Given the description of an element on the screen output the (x, y) to click on. 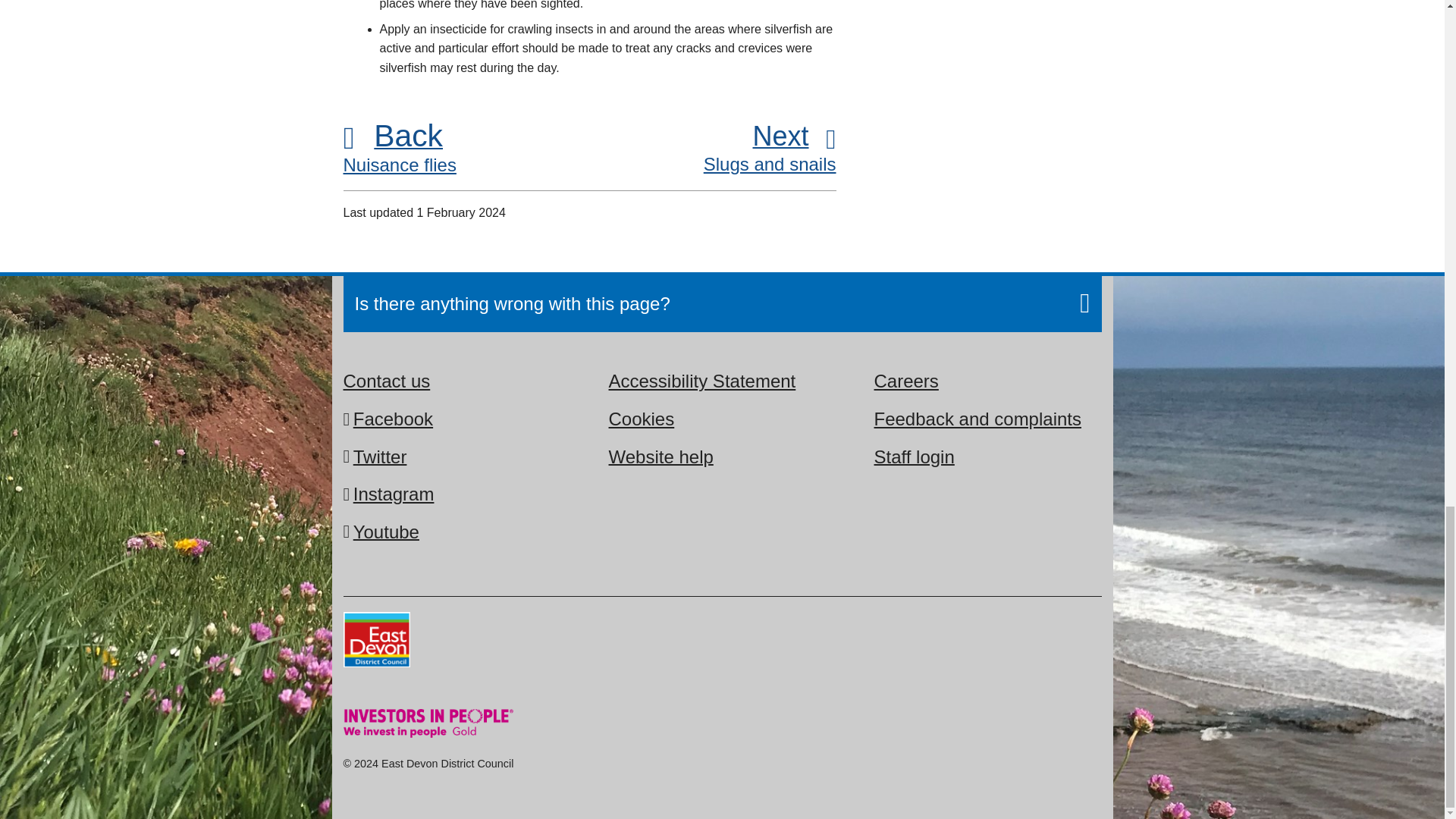
Website help (465, 150)
Accessibility Statement (660, 456)
Staff login (712, 150)
Careers (701, 380)
Youtube (913, 456)
Cookies (905, 380)
Go to the East Devon District Council homepage (386, 531)
Facebook (641, 418)
Feedback and complaints (375, 642)
Is there anything wrong with this page? (392, 418)
Twitter (977, 418)
Contact us (722, 304)
Instagram (380, 456)
